Given the description of an element on the screen output the (x, y) to click on. 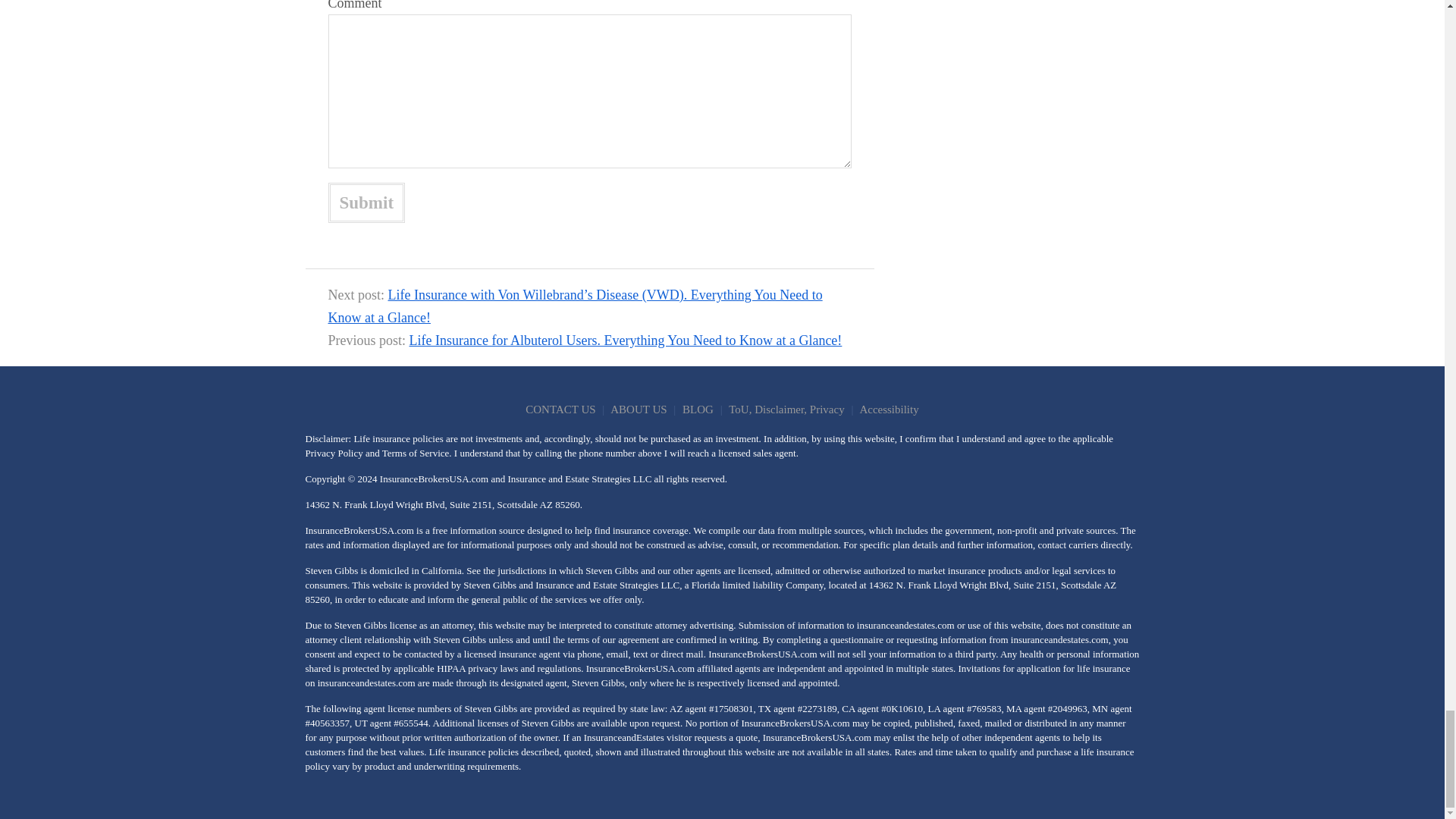
Submit (365, 202)
